Given the description of an element on the screen output the (x, y) to click on. 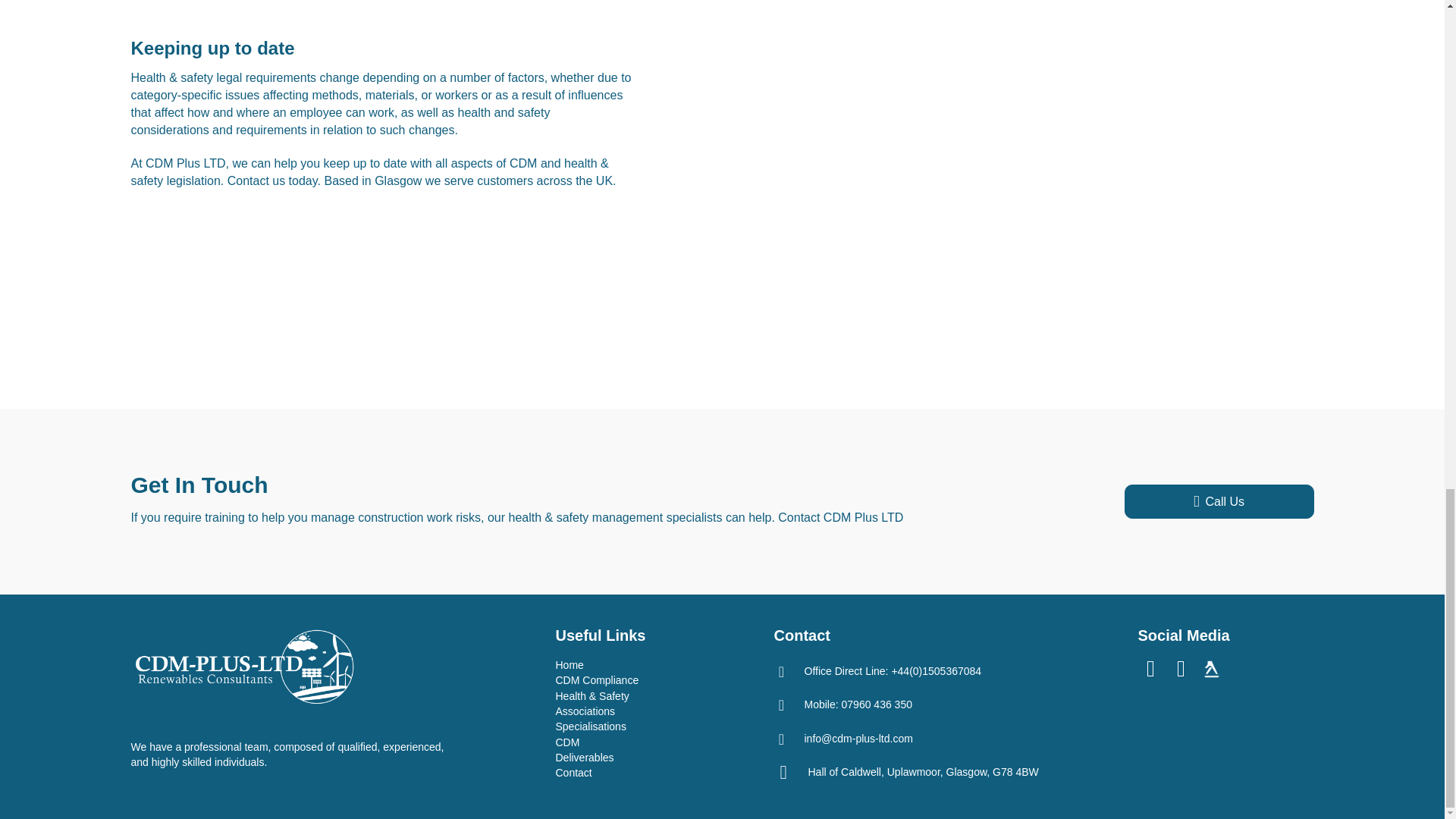
Deliverables (583, 757)
CDM (566, 742)
Contact us (256, 180)
Specialisations (590, 726)
Contact (572, 772)
CDM Compliance (596, 680)
Home (568, 664)
LOGO WHITE copy (244, 667)
07960 436 350 (876, 704)
